Given the description of an element on the screen output the (x, y) to click on. 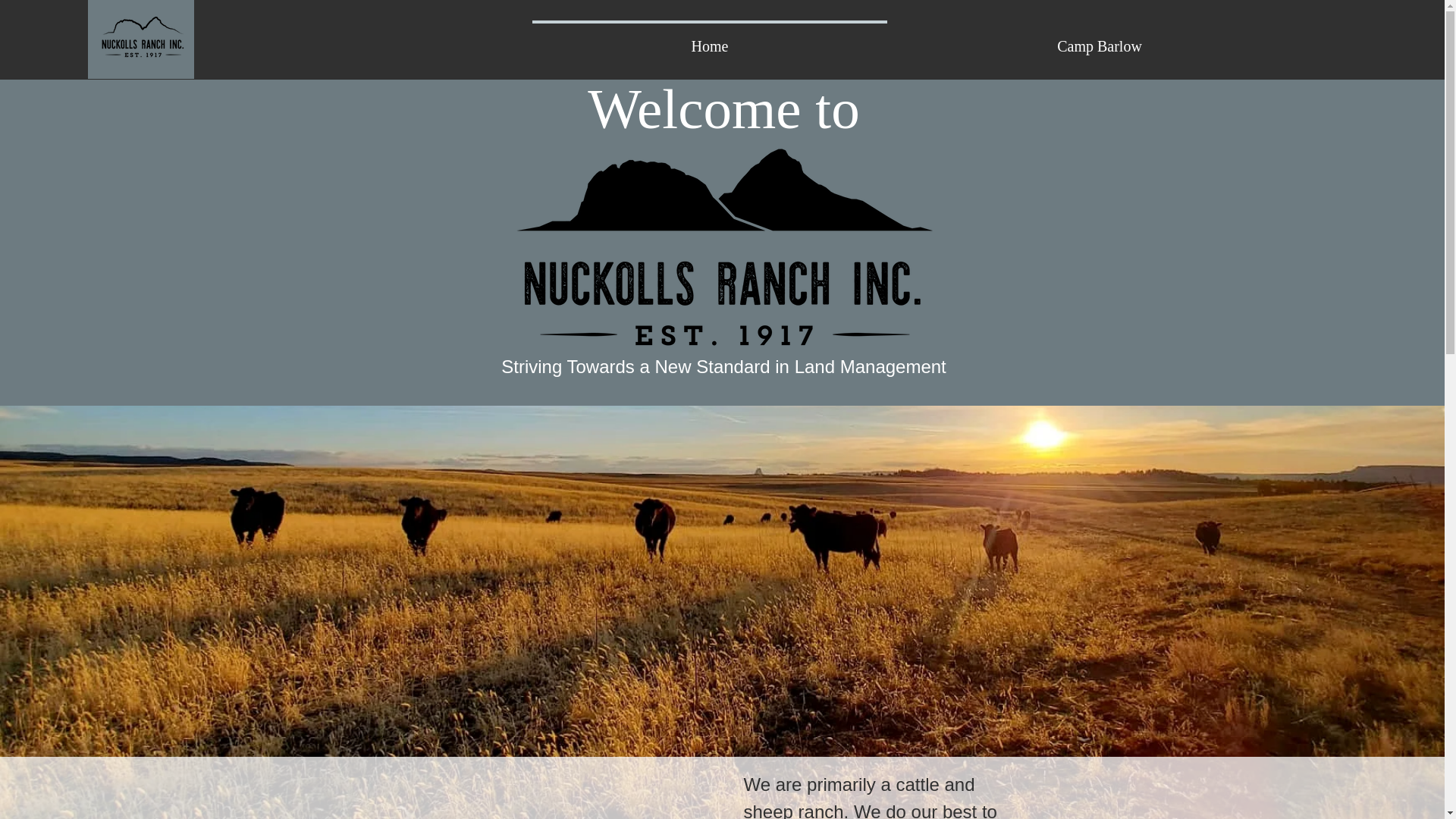
Camp Barlow (1099, 39)
Home (709, 39)
